Given the description of an element on the screen output the (x, y) to click on. 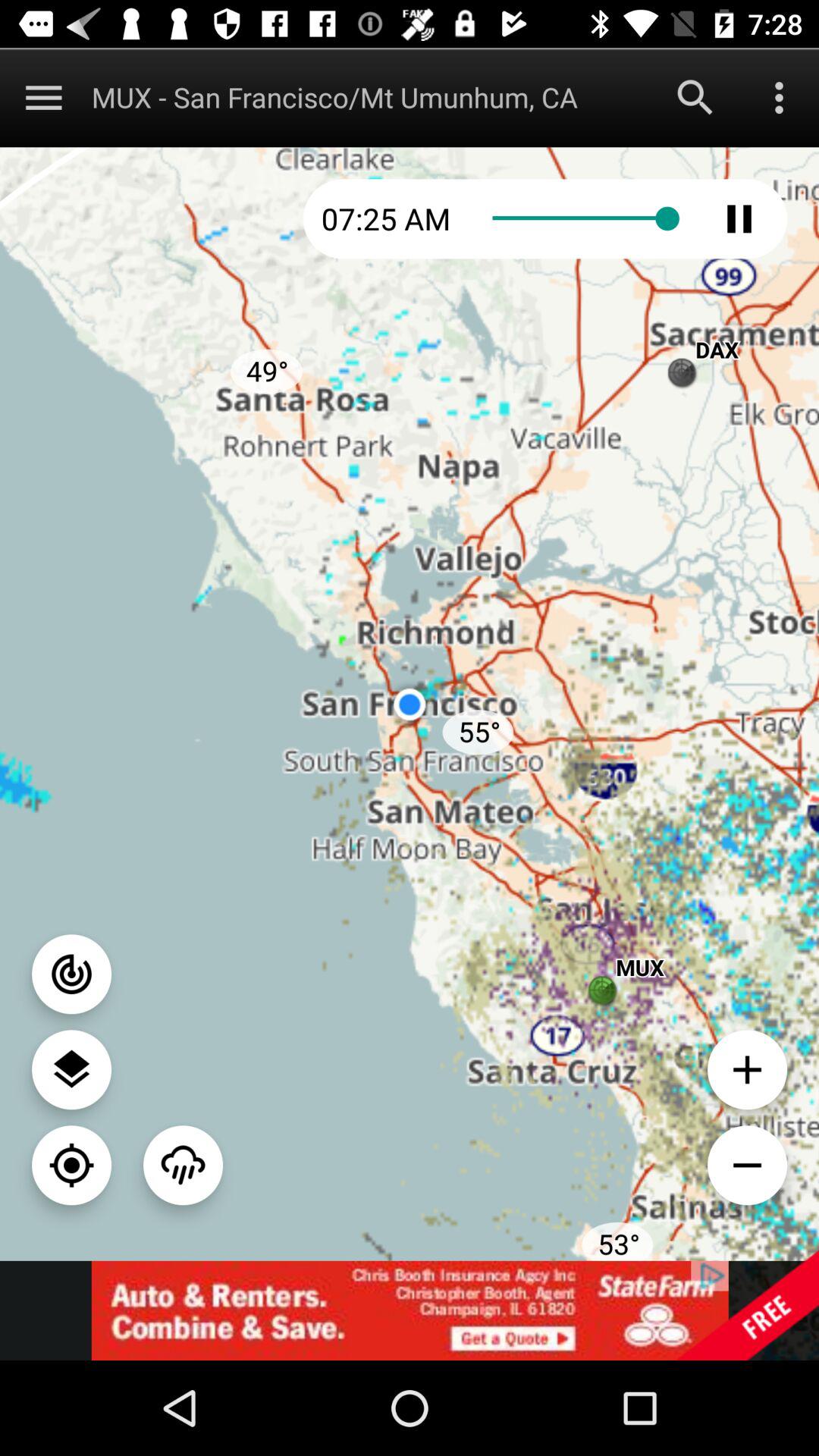
execute search (695, 97)
